Given the description of an element on the screen output the (x, y) to click on. 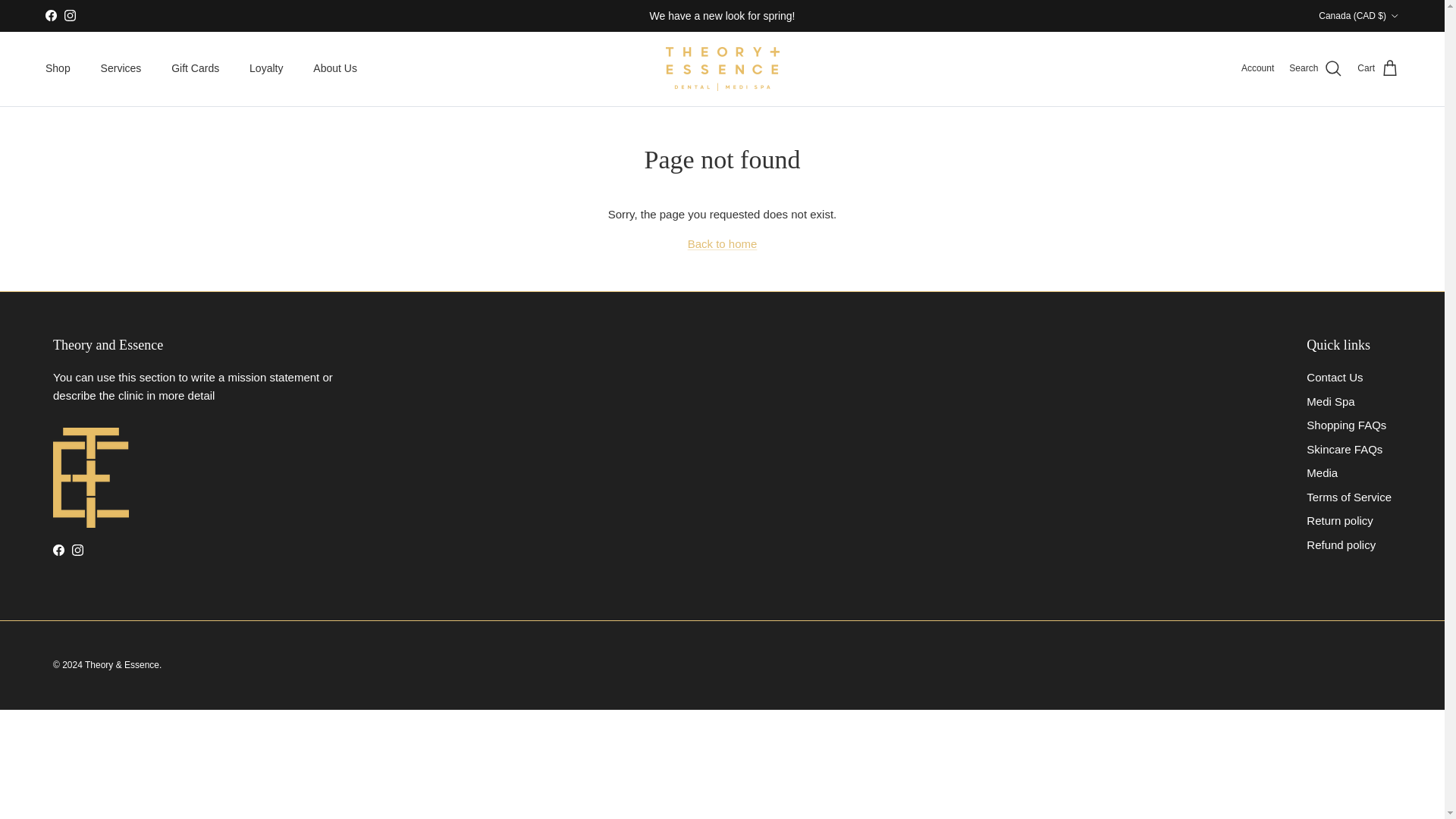
Services (121, 68)
Cart (1377, 68)
Shop (58, 68)
Search (1315, 68)
Gift Cards (194, 68)
Account (1257, 68)
Instagram (69, 15)
About Us (335, 68)
Facebook (50, 15)
Loyalty (266, 68)
